Given the description of an element on the screen output the (x, y) to click on. 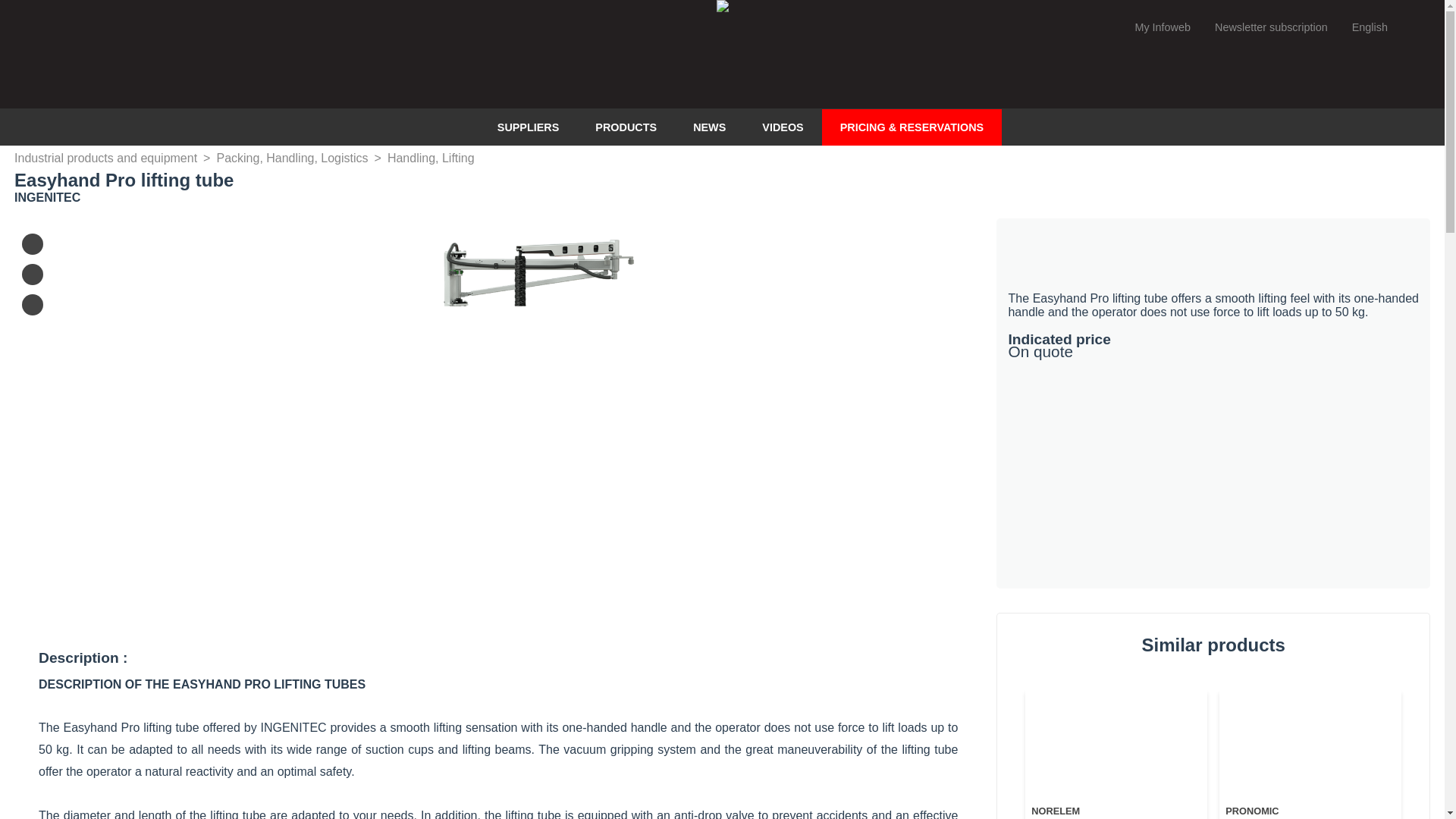
My Infoweb (1162, 27)
English (1385, 27)
Newsletter subscription (1270, 27)
My Infoweb (1162, 27)
Newsletter subscription (1270, 27)
International marketplaces (1385, 27)
